Given the description of an element on the screen output the (x, y) to click on. 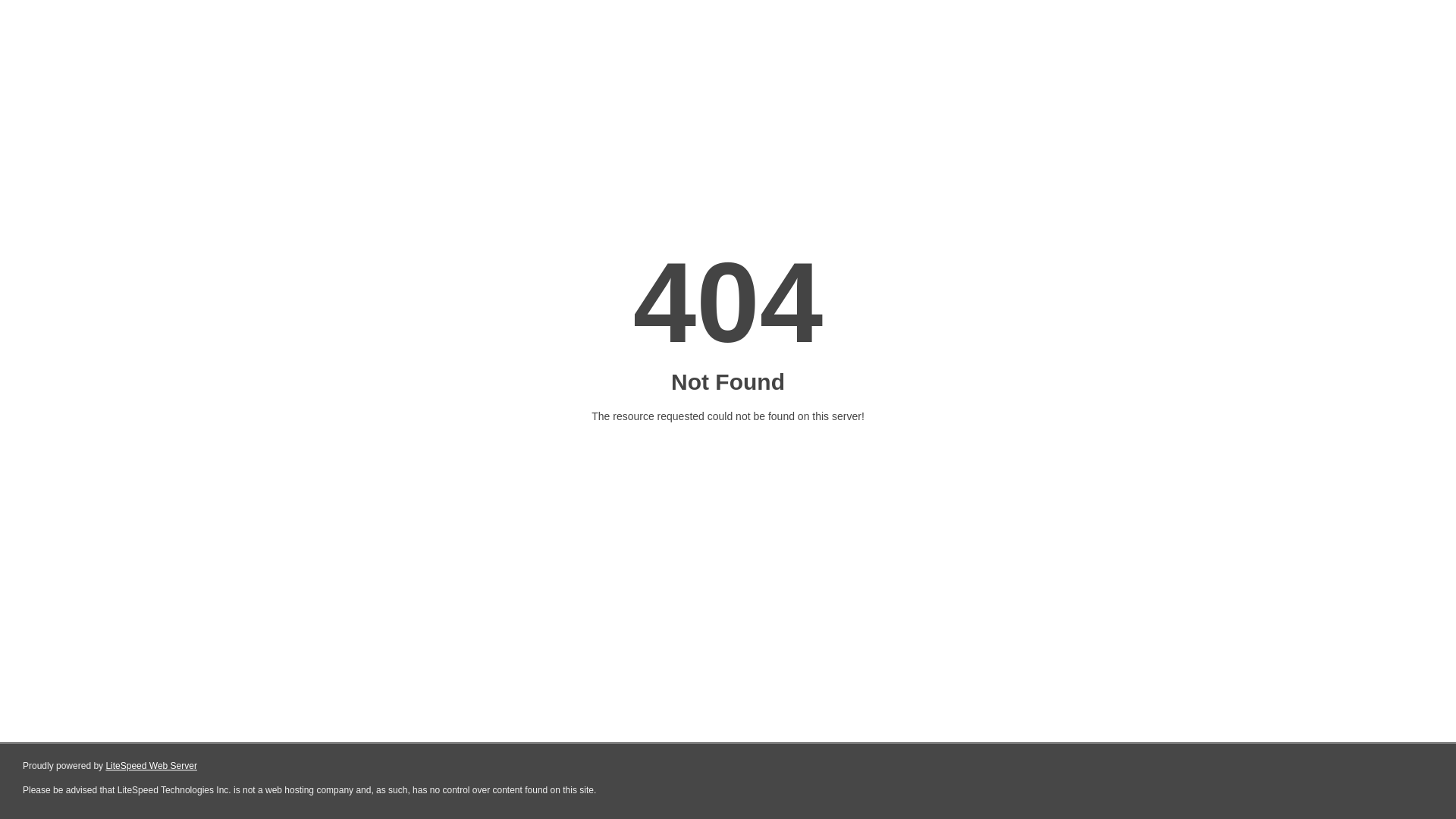
LiteSpeed Web Server Element type: text (151, 765)
